Given the description of an element on the screen output the (x, y) to click on. 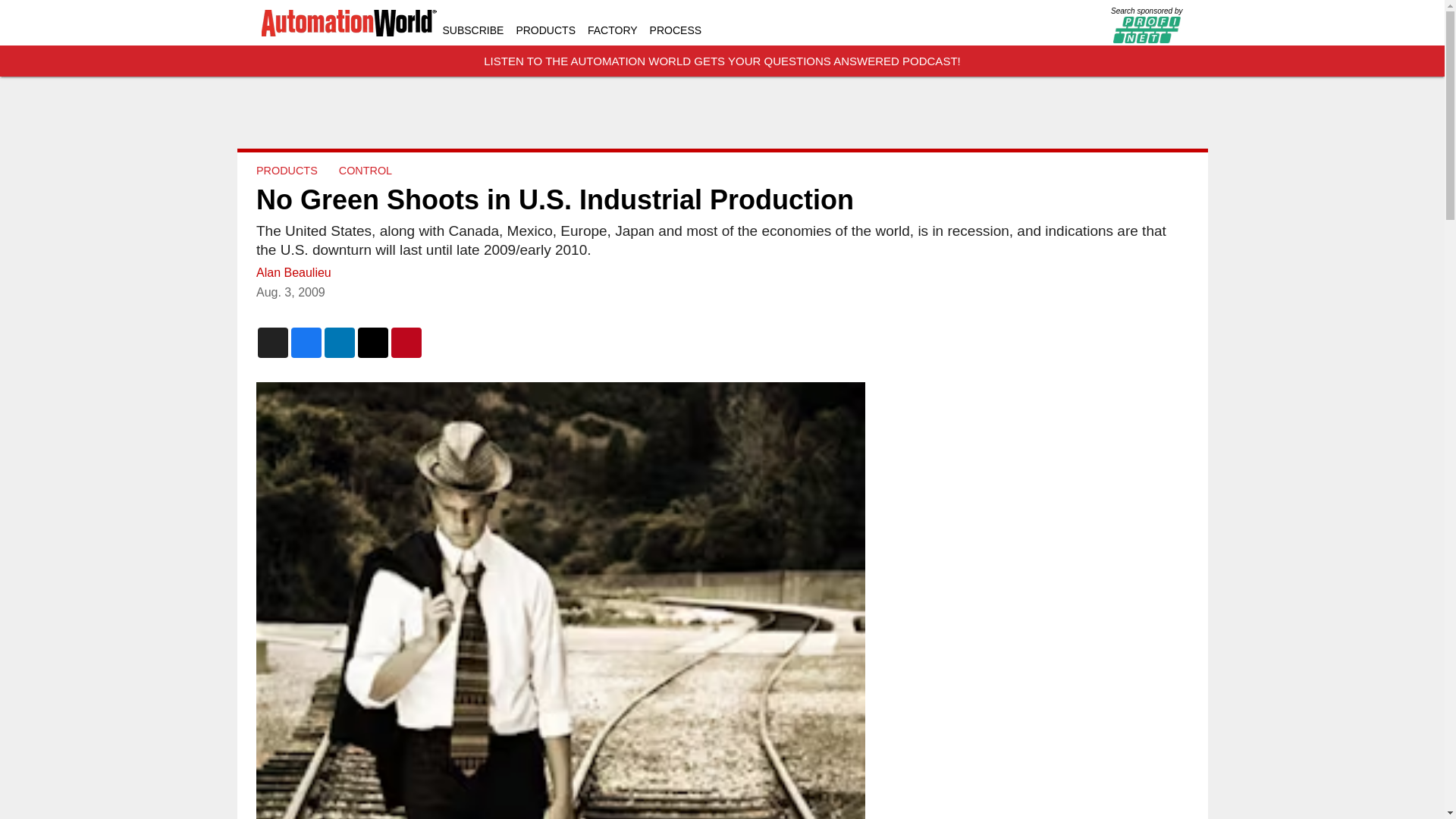
PROCESS (675, 30)
SUBSCRIBE (472, 30)
PRODUCTS (545, 30)
PRODUCTS (286, 170)
Alan Beaulieu (293, 272)
FACTORY (612, 30)
CONTROL (364, 170)
